Given the description of an element on the screen output the (x, y) to click on. 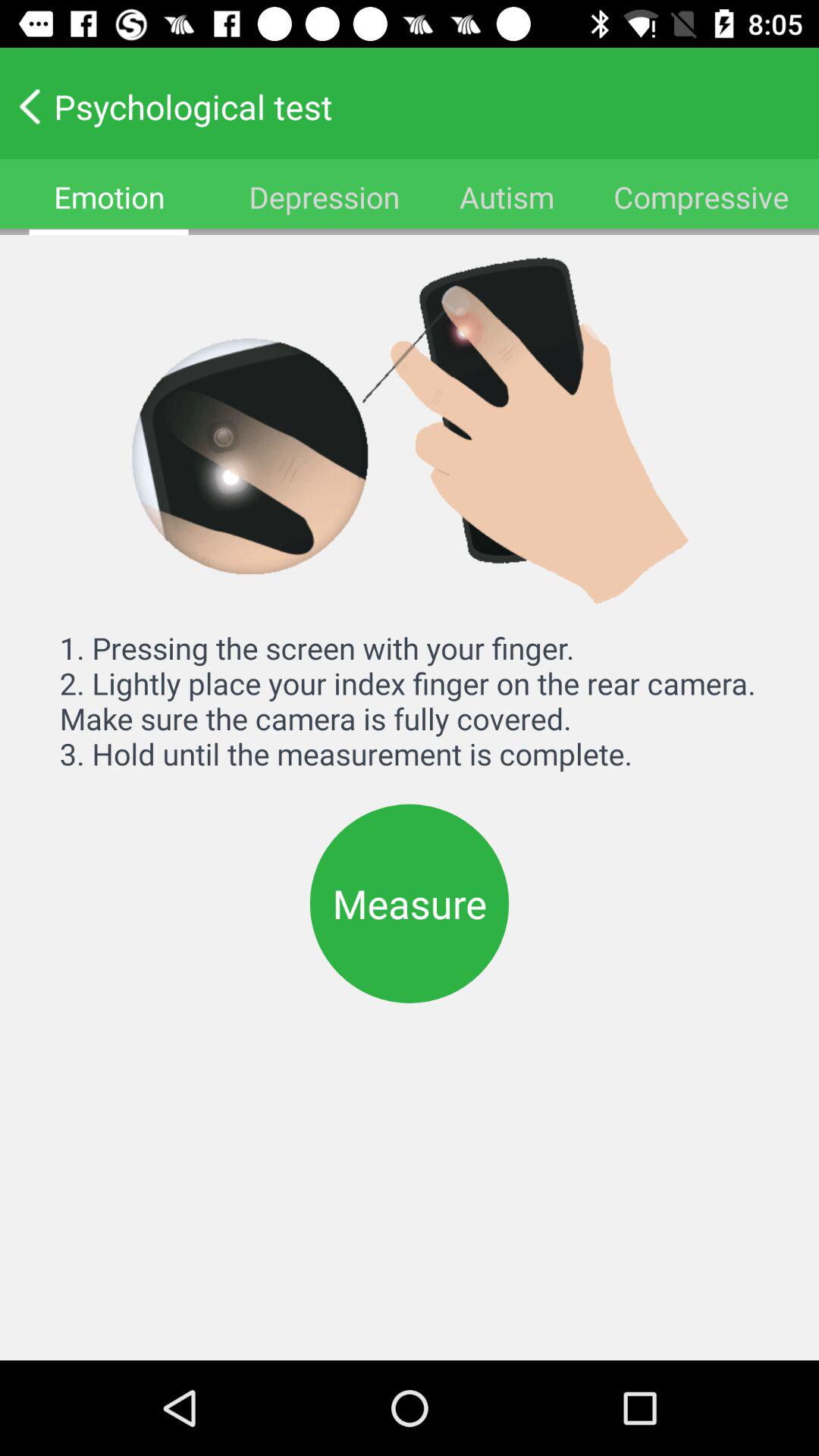
open icon to the left of the depression icon (109, 196)
